Given the description of an element on the screen output the (x, y) to click on. 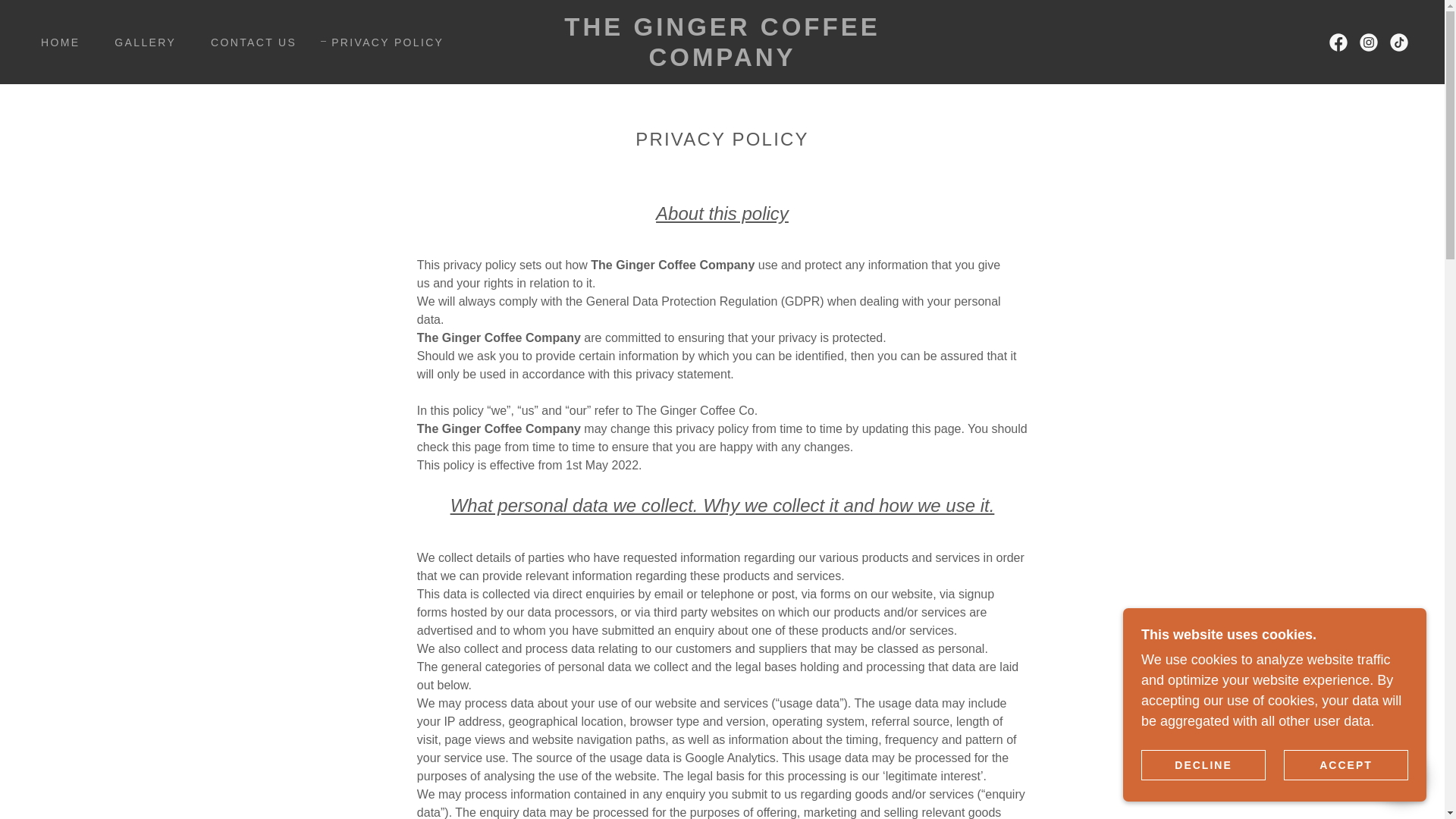
GALLERY (139, 42)
PRIVACY POLICY (382, 42)
DECLINE (1203, 764)
ACCEPT (1345, 764)
HOME (55, 42)
THE GINGER COFFEE COMPANY (722, 61)
CONTACT US (248, 42)
 The Ginger Coffee Company (722, 61)
